Given the description of an element on the screen output the (x, y) to click on. 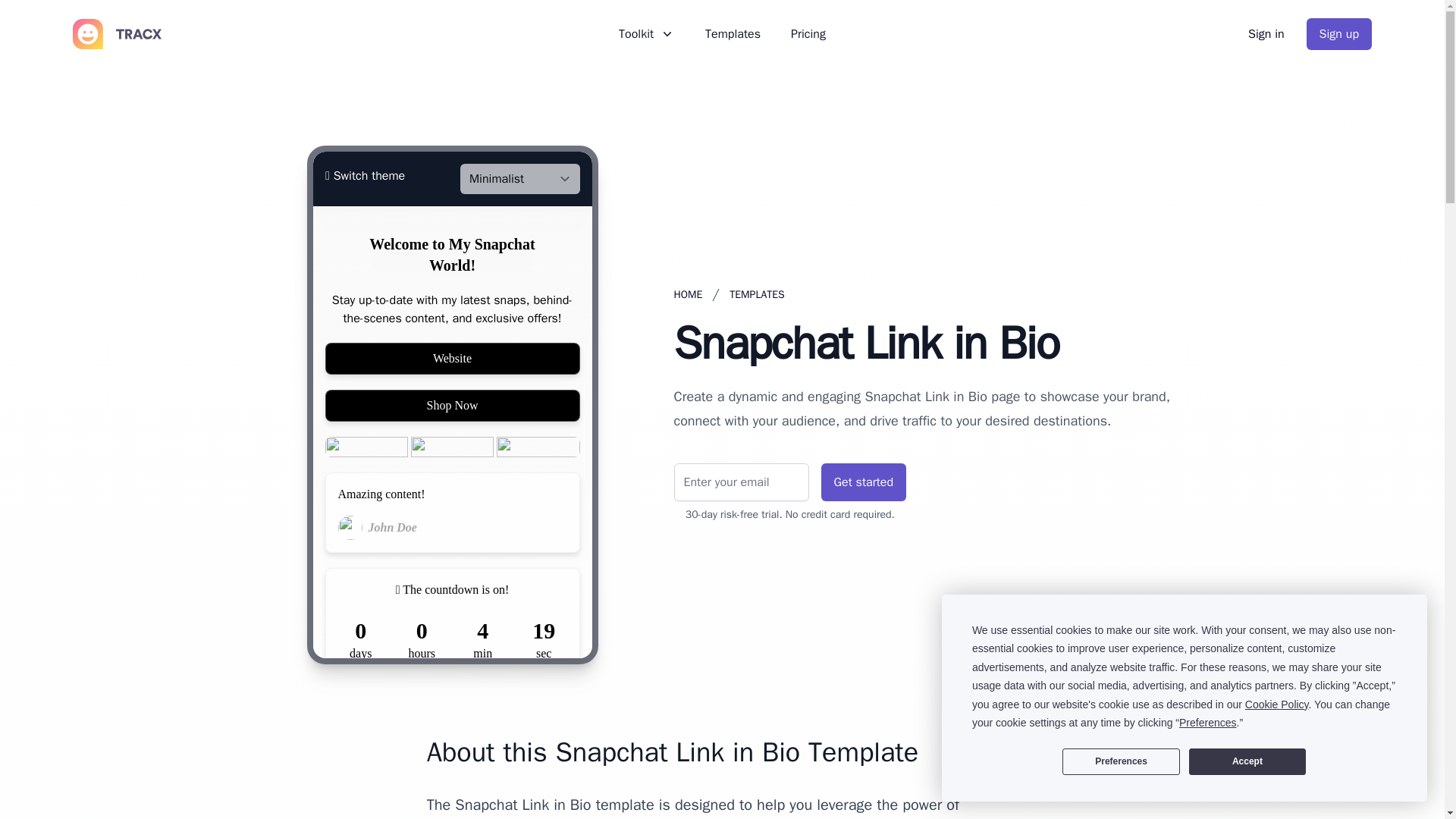
Pricing (807, 34)
Templates (732, 34)
TRACX (116, 33)
Sign up (1338, 33)
HOME (686, 294)
Sign in (1265, 33)
TEMPLATES (756, 294)
Toolkit (646, 34)
Preferences (1120, 761)
Accept (1247, 761)
